Given the description of an element on the screen output the (x, y) to click on. 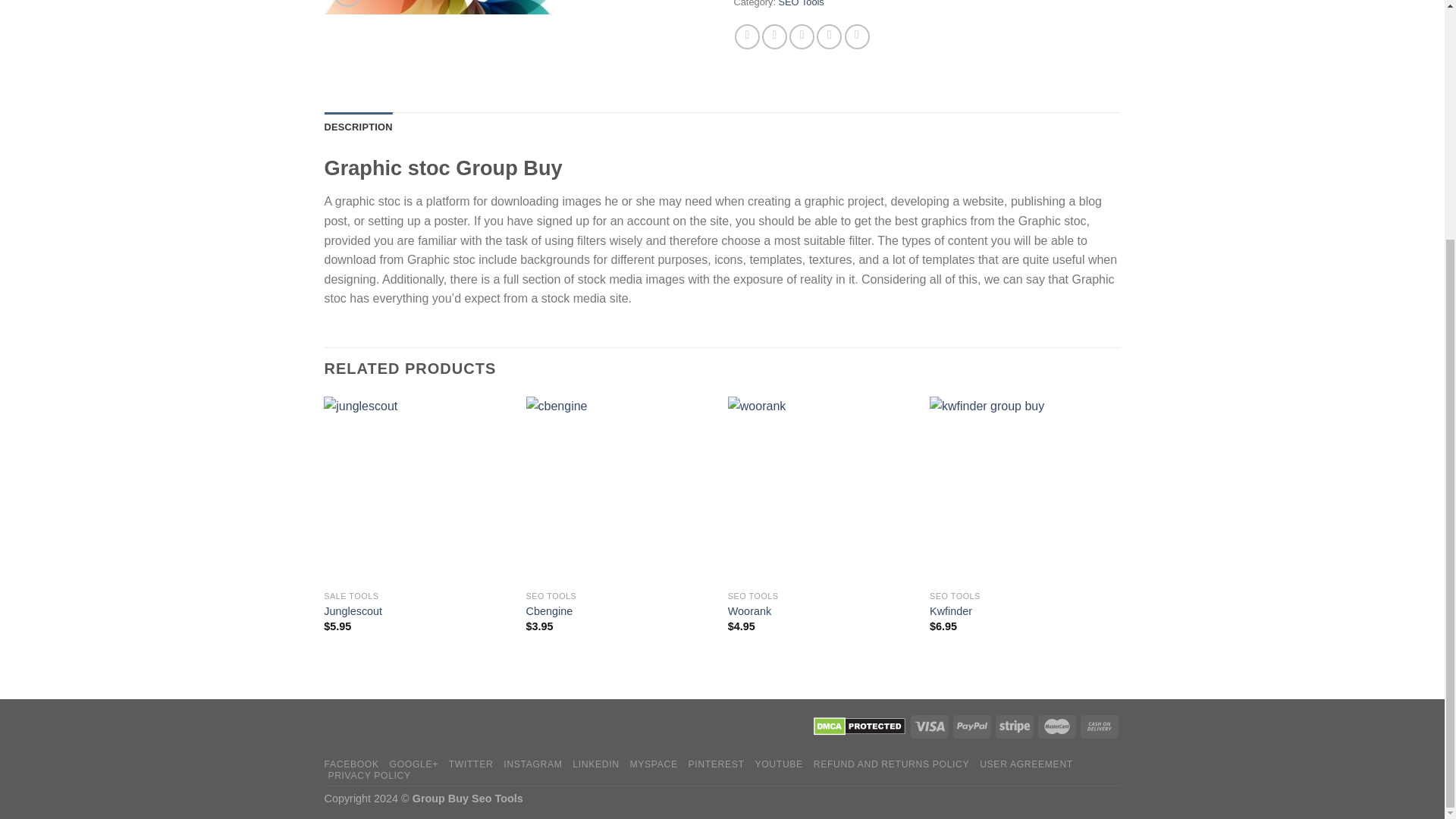
Pin on Pinterest (828, 36)
Share on LinkedIn (856, 36)
SEO Tools (801, 3)
Zoom (347, 3)
graphicstock (517, 7)
DMCA.com Protection Status (858, 725)
Share on Twitter (774, 36)
Share on Facebook (747, 36)
Email to a Friend (801, 36)
